Given the description of an element on the screen output the (x, y) to click on. 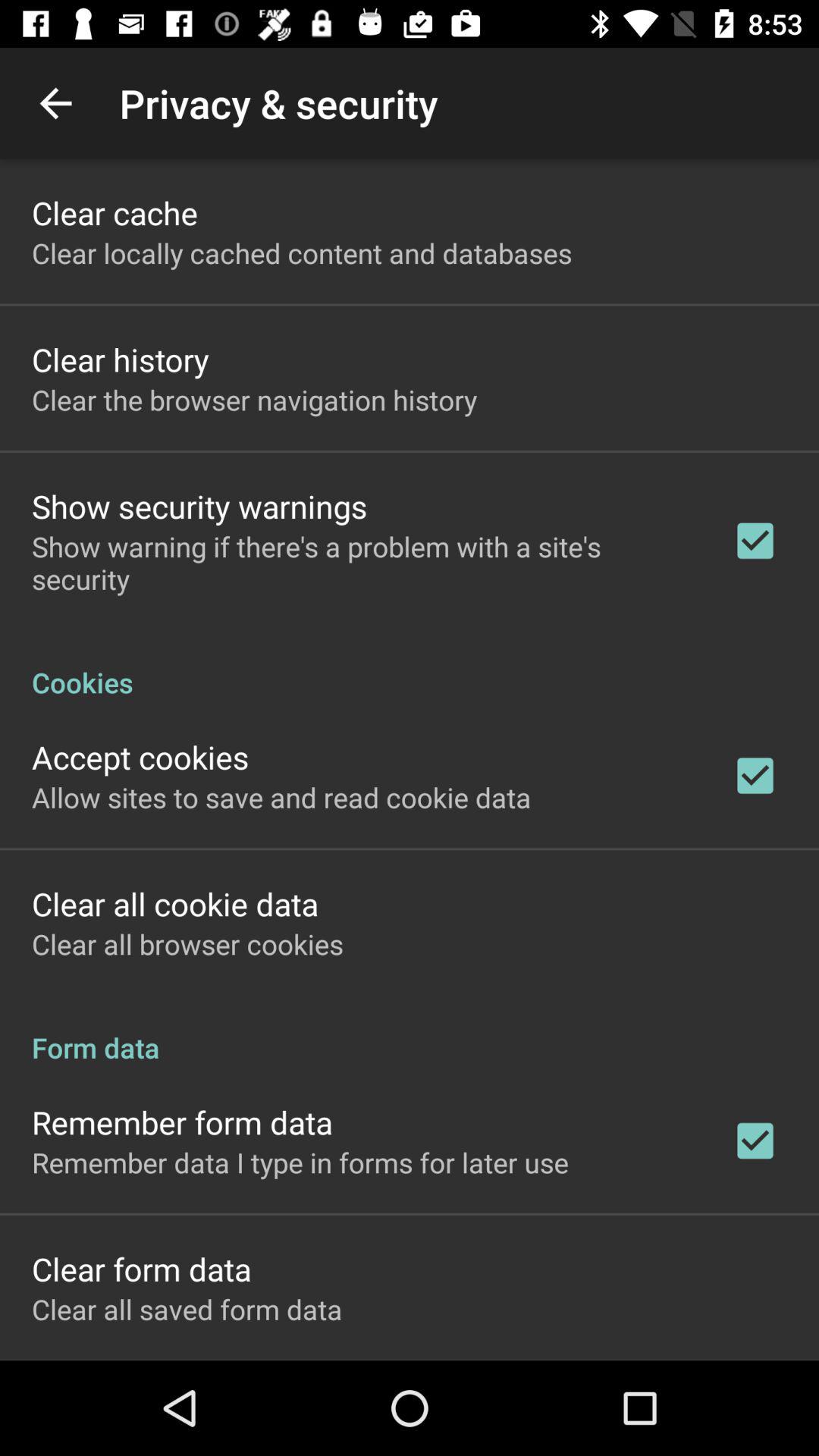
flip to clear cache (114, 212)
